Given the description of an element on the screen output the (x, y) to click on. 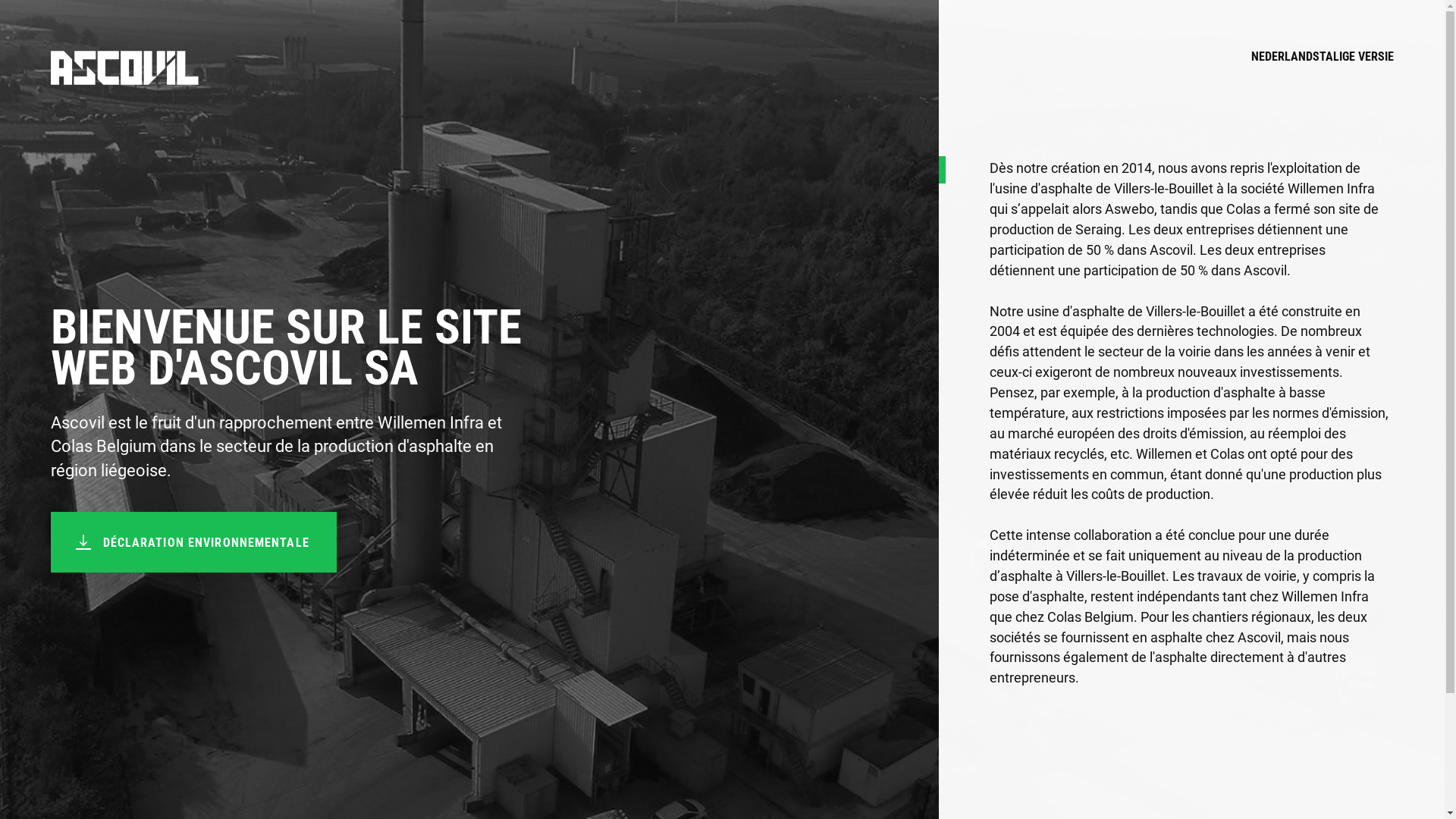
NEDERLANDSTALIGE VERSIE Element type: text (1322, 68)
